Given the description of an element on the screen output the (x, y) to click on. 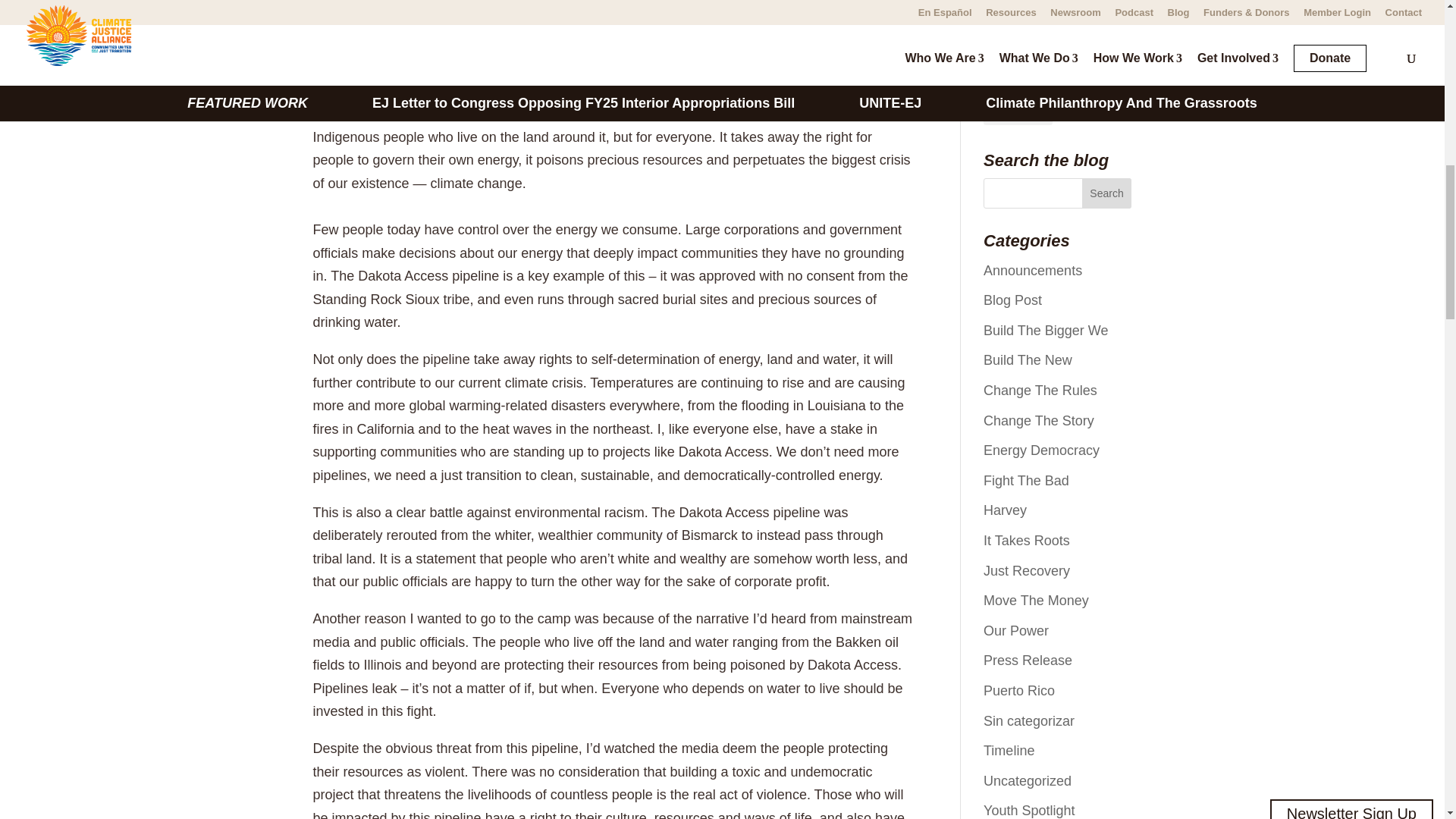
Search (1106, 193)
